Given the description of an element on the screen output the (x, y) to click on. 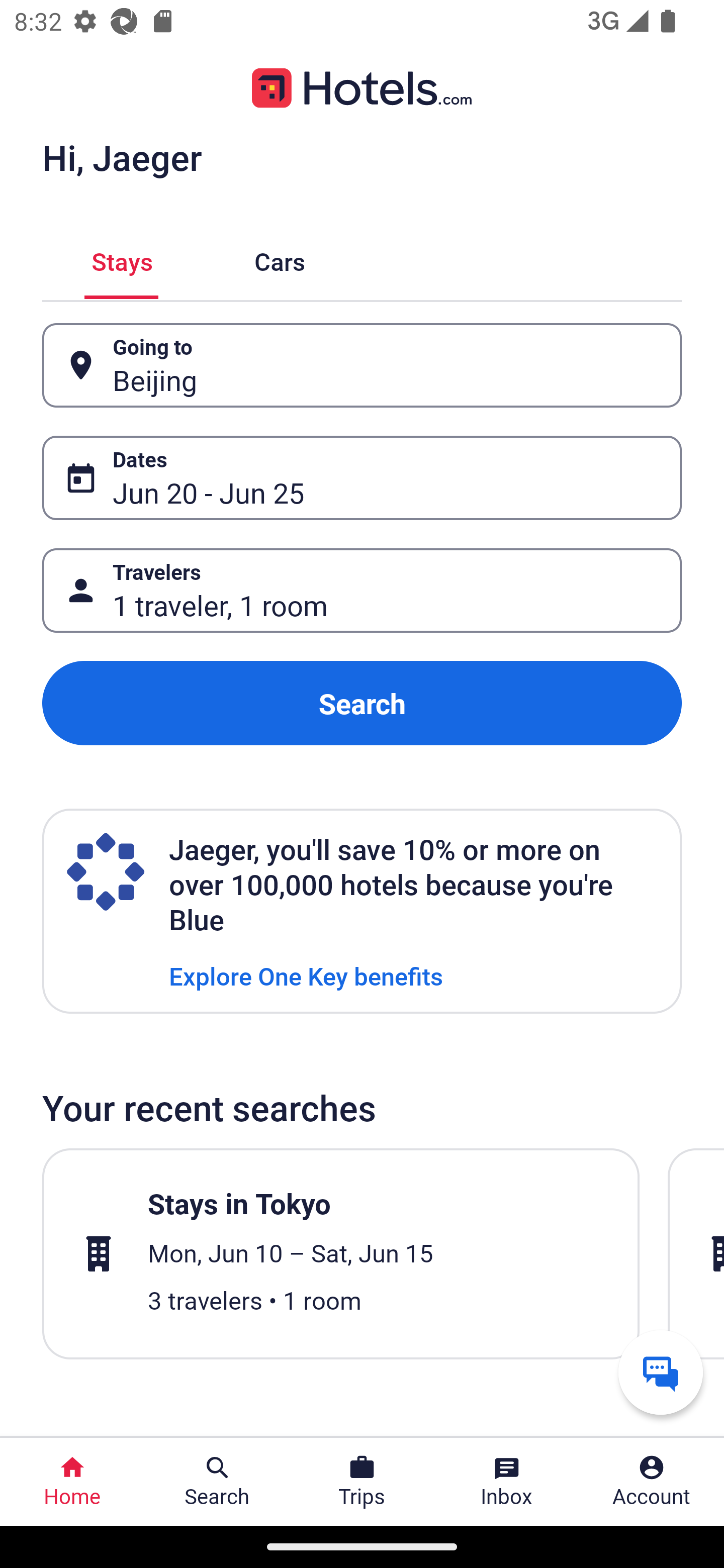
Hi, Jaeger (121, 156)
Cars (279, 259)
Going to Button Beijing (361, 365)
Dates Button Jun 20 - Jun 25 (361, 477)
Travelers Button 1 traveler, 1 room (361, 590)
Search (361, 702)
Get help from a virtual agent (660, 1371)
Search Search Button (216, 1481)
Trips Trips Button (361, 1481)
Inbox Inbox Button (506, 1481)
Account Profile. Button (651, 1481)
